Given the description of an element on the screen output the (x, y) to click on. 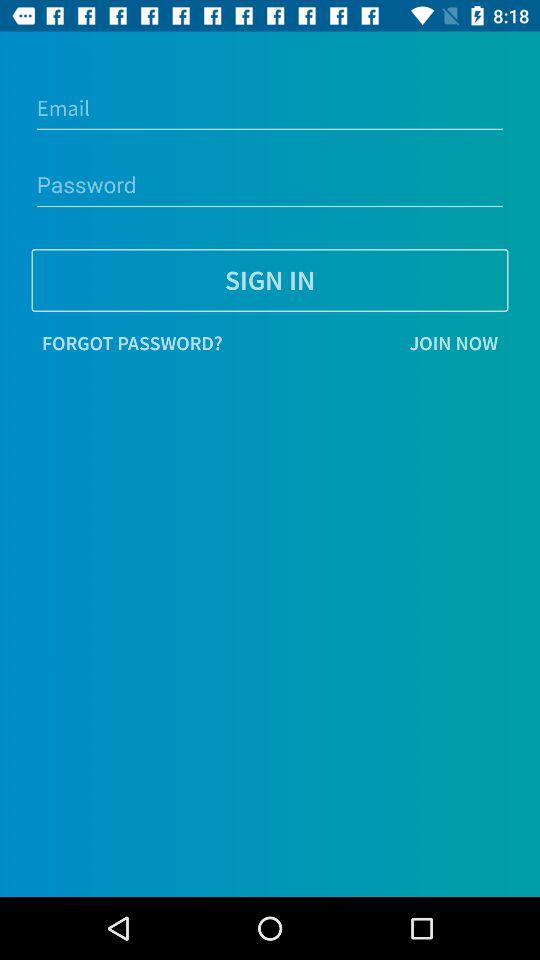
turn on item next to the join now icon (132, 343)
